Given the description of an element on the screen output the (x, y) to click on. 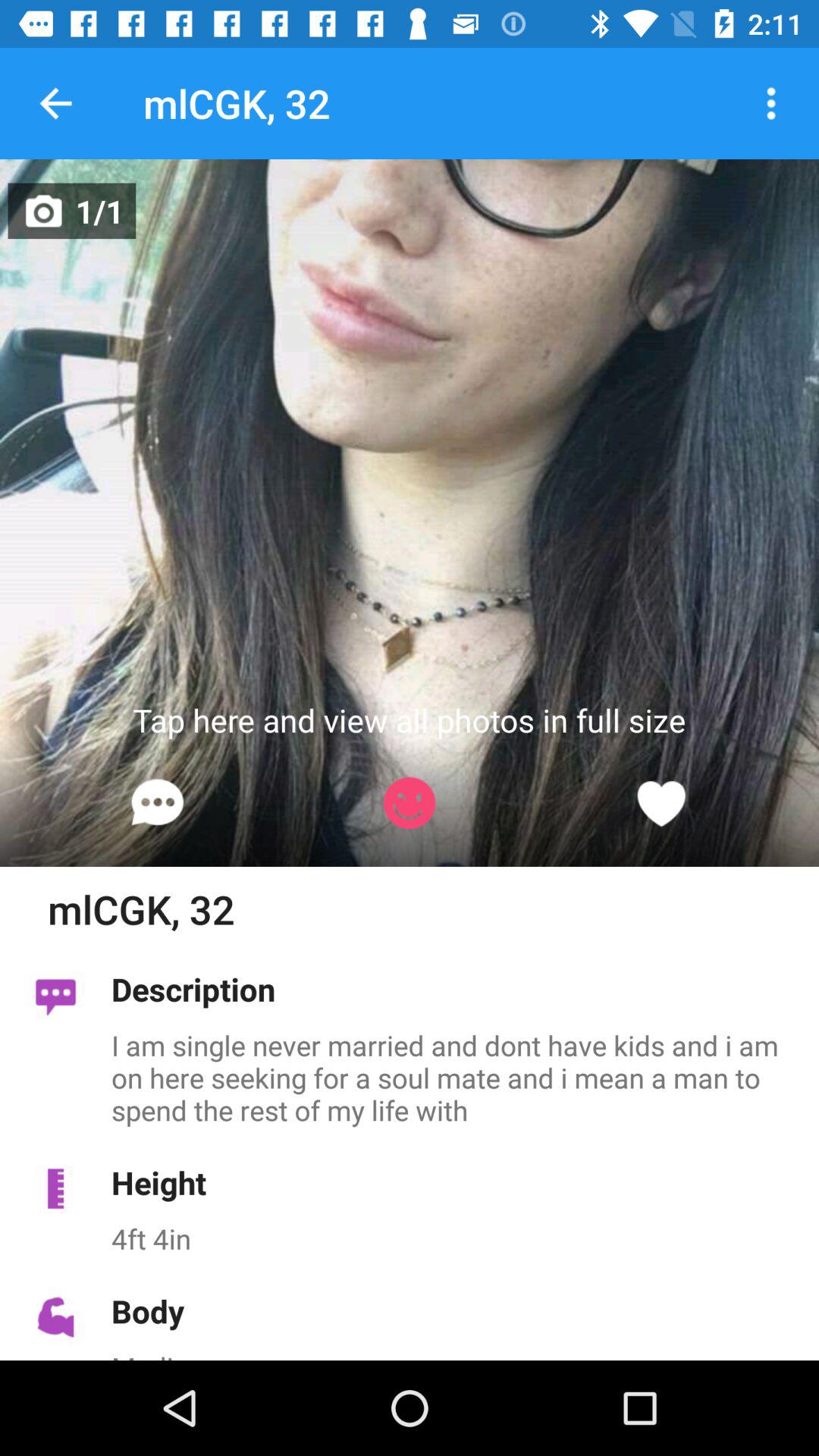
press icon below height (457, 1238)
